Given the description of an element on the screen output the (x, y) to click on. 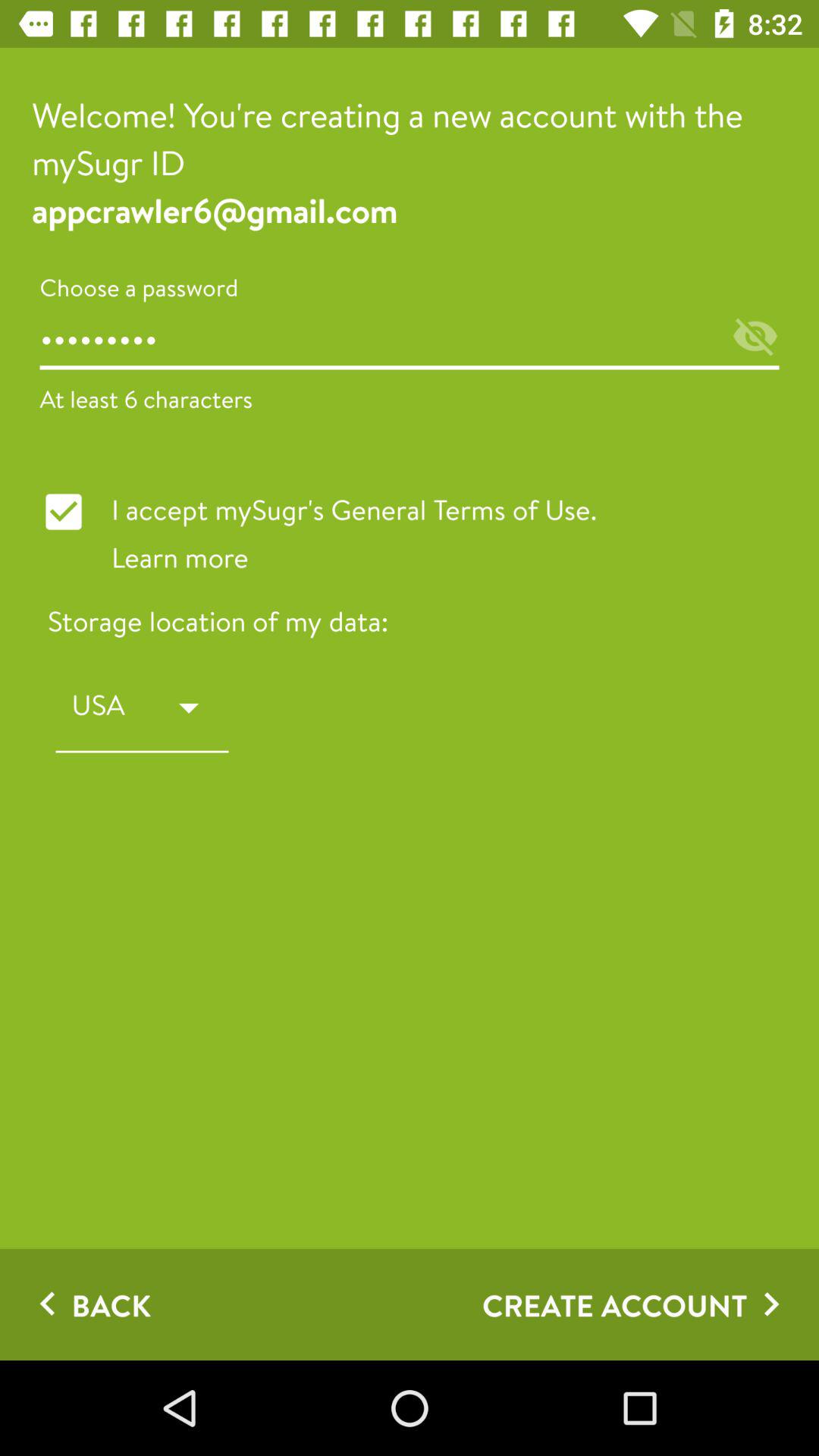
password not showing (755, 337)
